Given the description of an element on the screen output the (x, y) to click on. 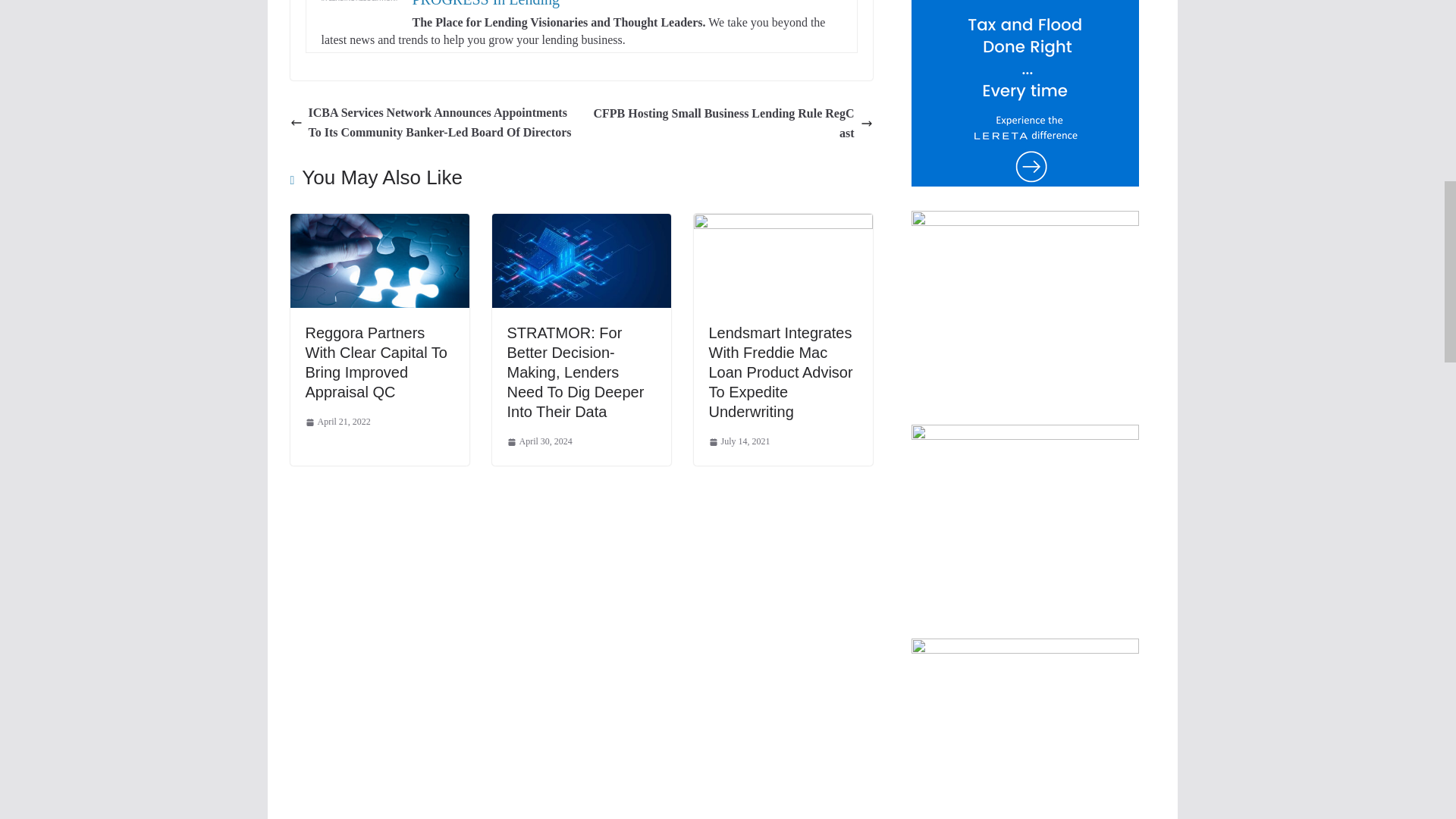
PROGRESS In Lending (485, 3)
8:13 pm (336, 422)
CFPB Hosting Small Business Lending Rule RegCast (730, 123)
